Given the description of an element on the screen output the (x, y) to click on. 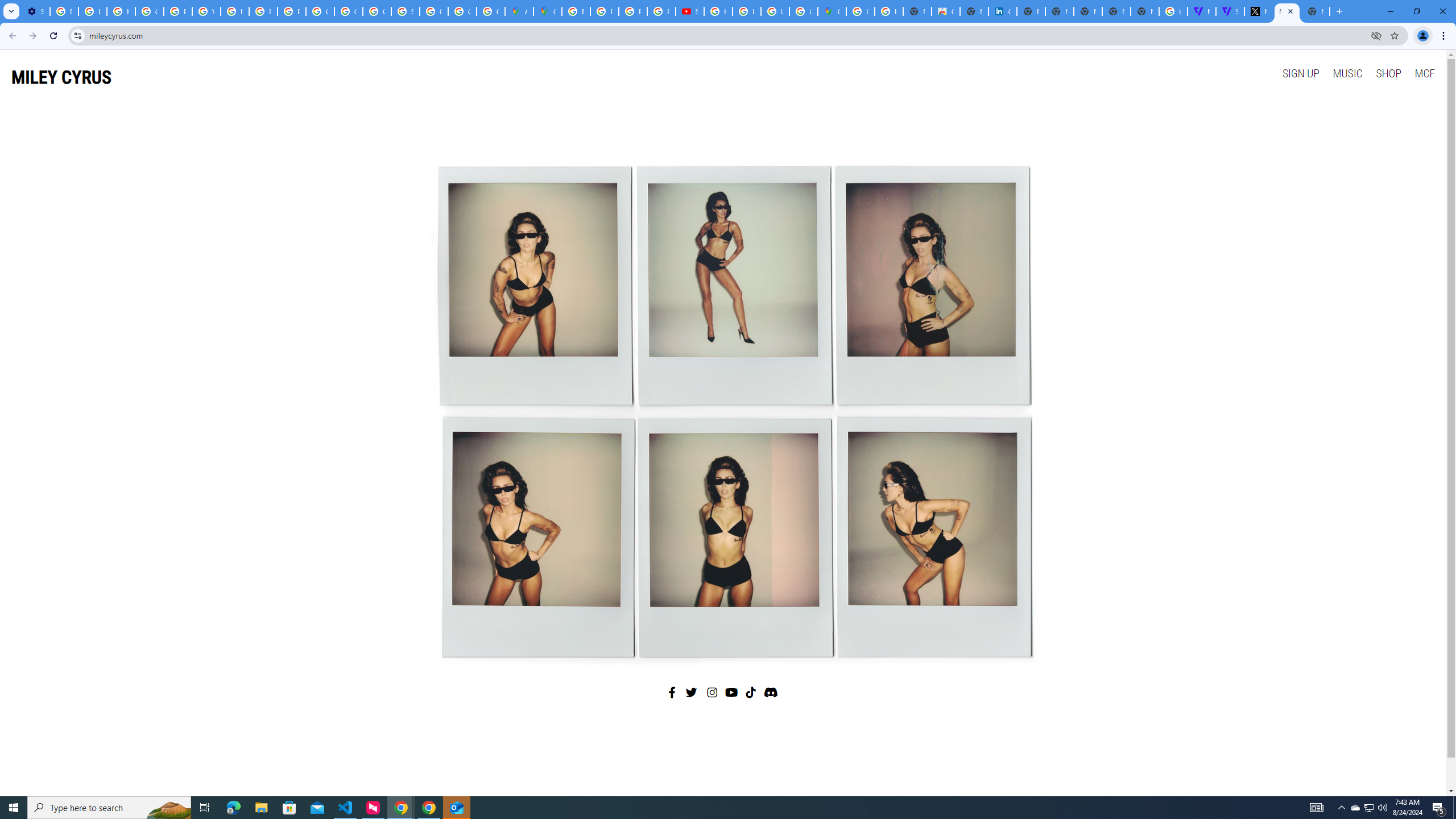
Cookie Policy | LinkedIn (1002, 11)
New Tab (1315, 11)
Blogger Policies and Guidelines - Transparency Center (575, 11)
Sign in - Google Accounts (405, 11)
https://scholar.google.com/ (234, 11)
Facebook (671, 692)
Miley Cyrus (@MileyCyrus) / X (1258, 11)
Streaming - The Verge (1230, 11)
